Given the description of an element on the screen output the (x, y) to click on. 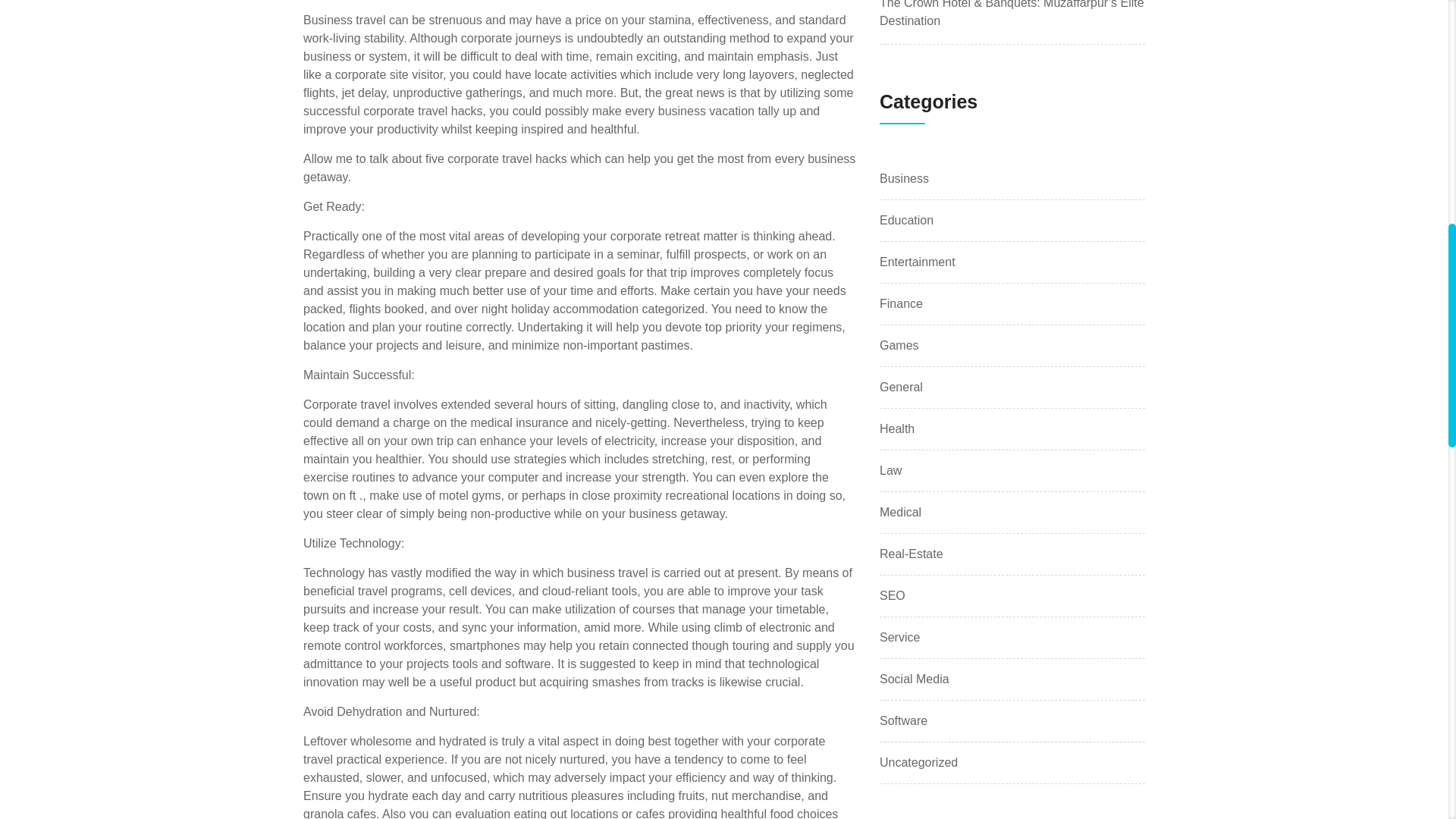
Medical (900, 512)
Education (906, 220)
Law (890, 470)
Entertainment (917, 262)
Social Media (914, 679)
General (901, 387)
Health (896, 429)
Games (898, 345)
Finance (901, 303)
Business (903, 178)
Real-Estate (911, 554)
Uncategorized (918, 762)
Software (903, 720)
SEO (892, 596)
Service (899, 637)
